Given the description of an element on the screen output the (x, y) to click on. 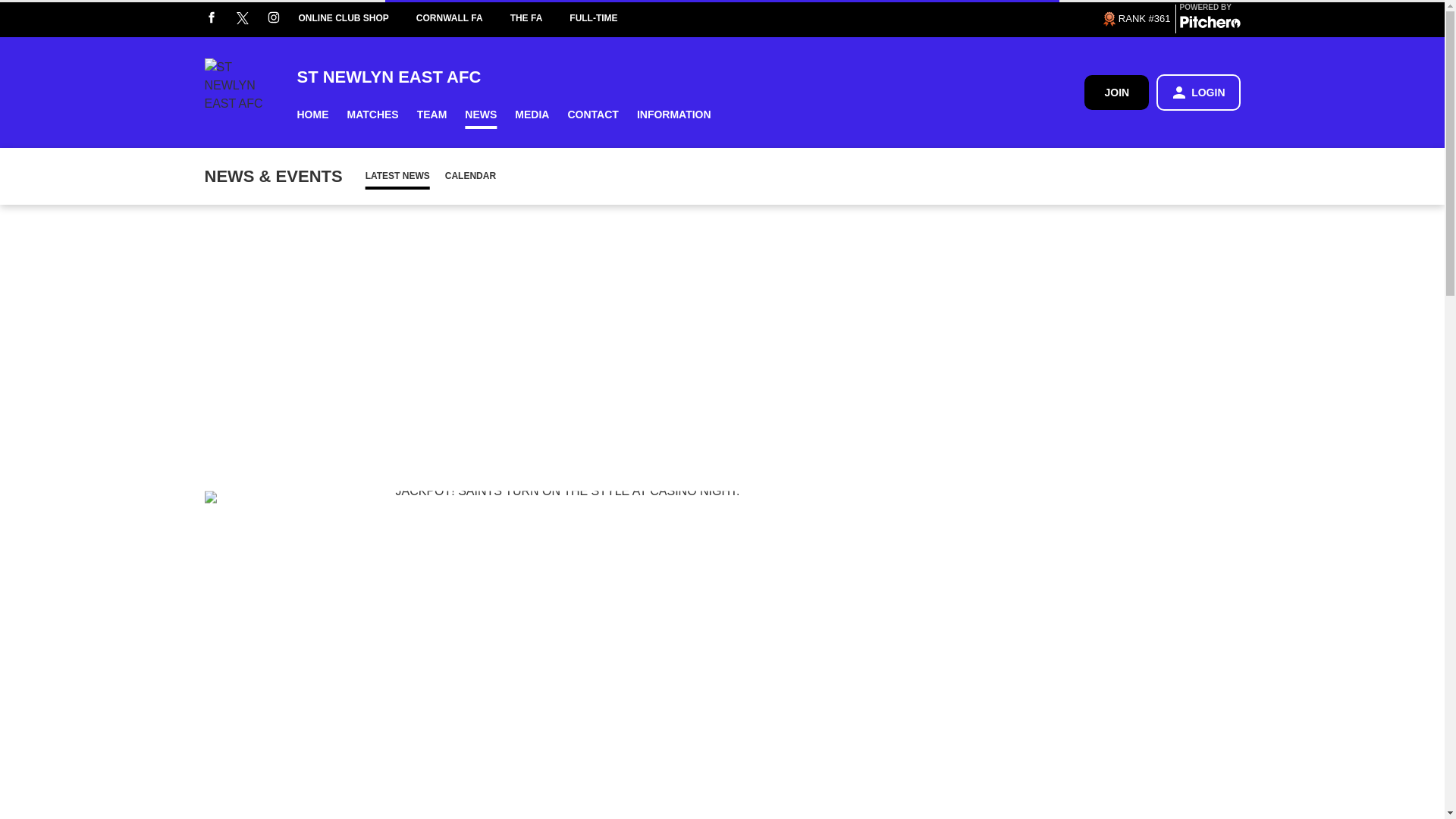
FULL-TIME (607, 18)
CONTACT (592, 114)
HOME (312, 114)
Pitchero (1209, 24)
TEAM (432, 114)
ONLINE CLUB SHOP (357, 18)
MEDIA (531, 114)
ST NEWLYN EAST AFC (690, 76)
JOIN (1116, 91)
CORNWALL FA (463, 18)
